Given the description of an element on the screen output the (x, y) to click on. 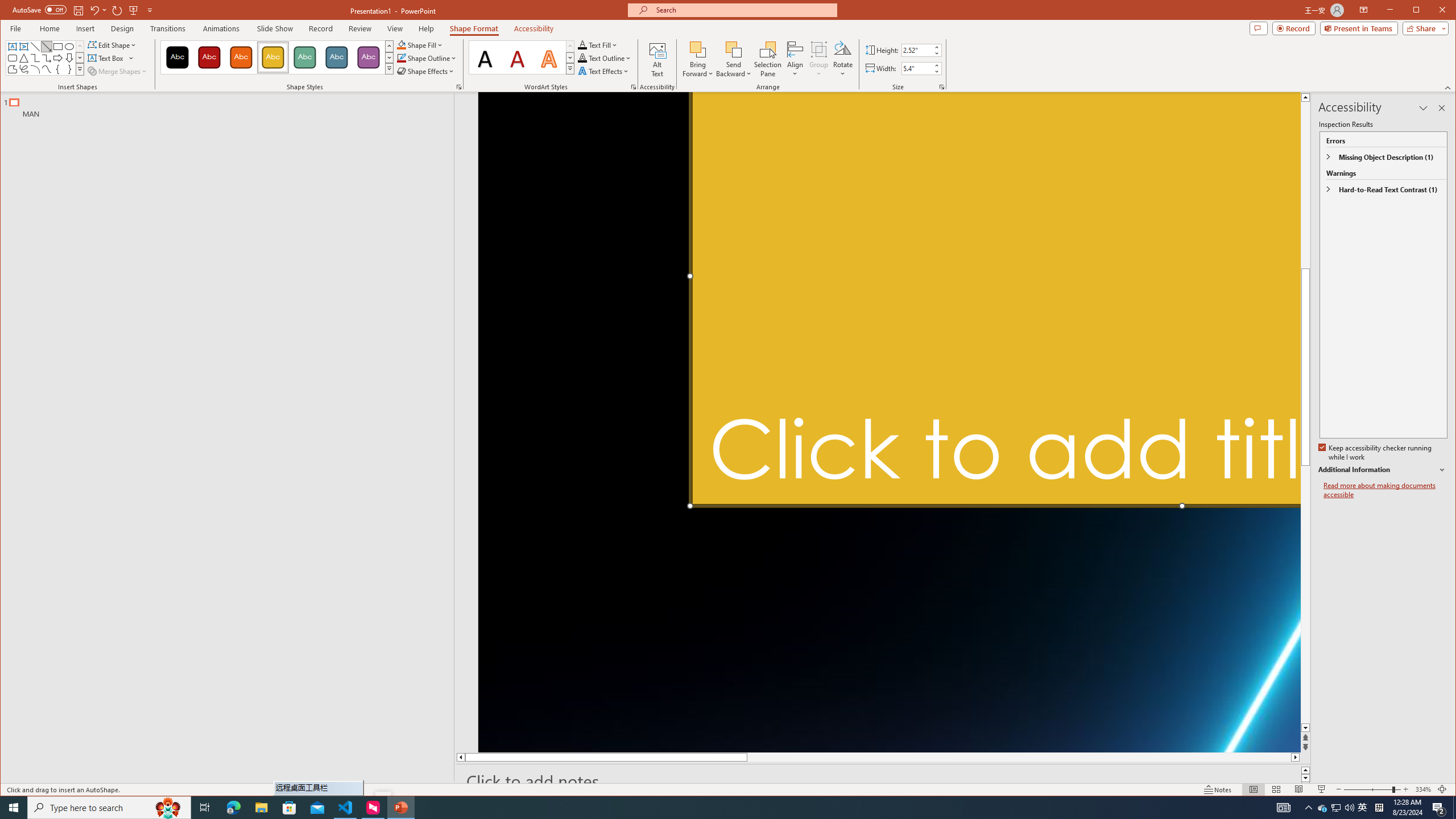
Action Center, 2 new notifications (1439, 807)
Bring Forward (697, 48)
Vertical Text Box (23, 46)
Rectangle: Rounded Corners (12, 57)
Shape Height (916, 50)
Microsoft Edge (233, 807)
Shape Format (473, 28)
Read more about making documents accessible (1385, 489)
